Given the description of an element on the screen output the (x, y) to click on. 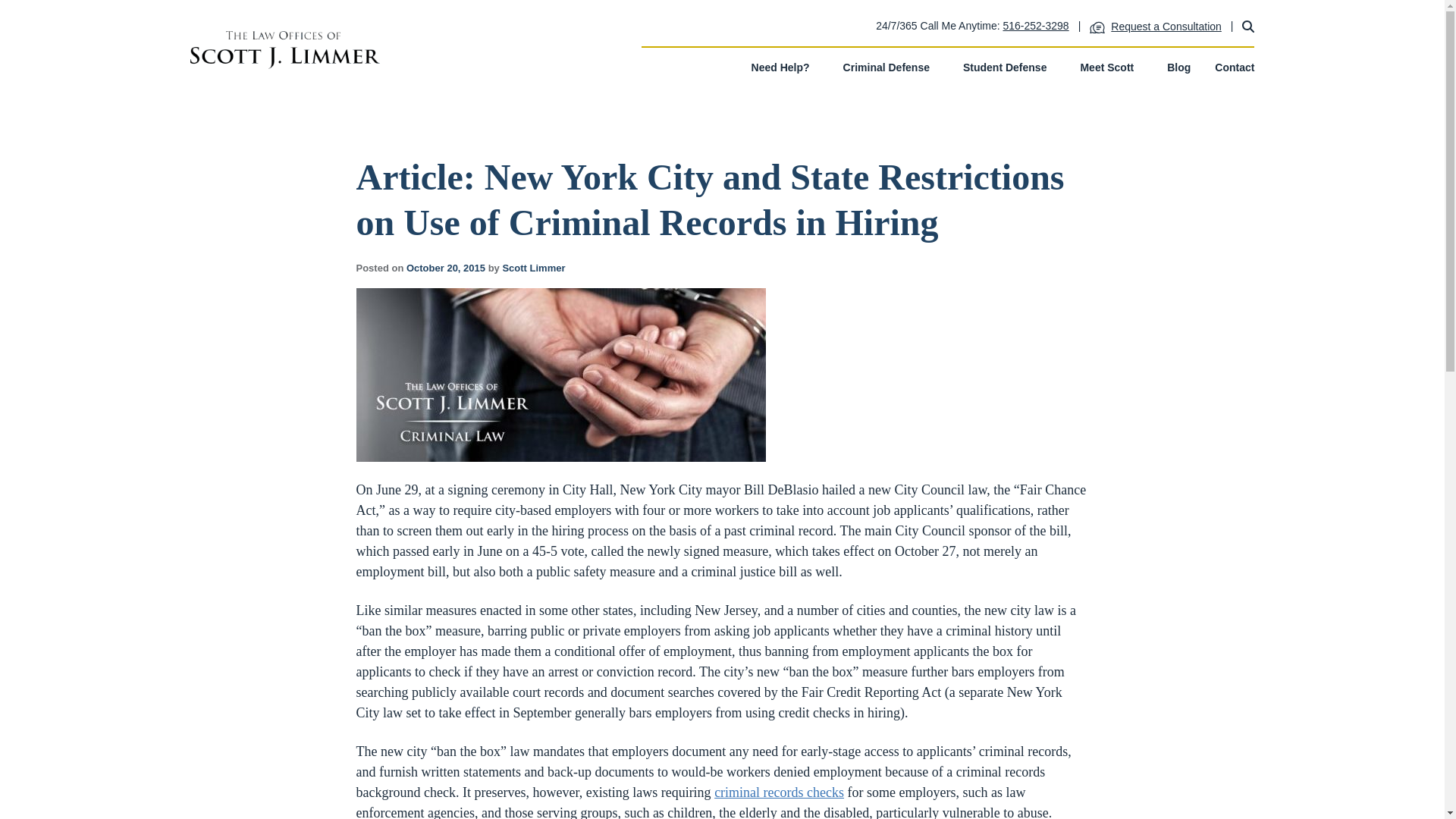
Criminal Defense (890, 68)
Need Help? (785, 68)
